Given the description of an element on the screen output the (x, y) to click on. 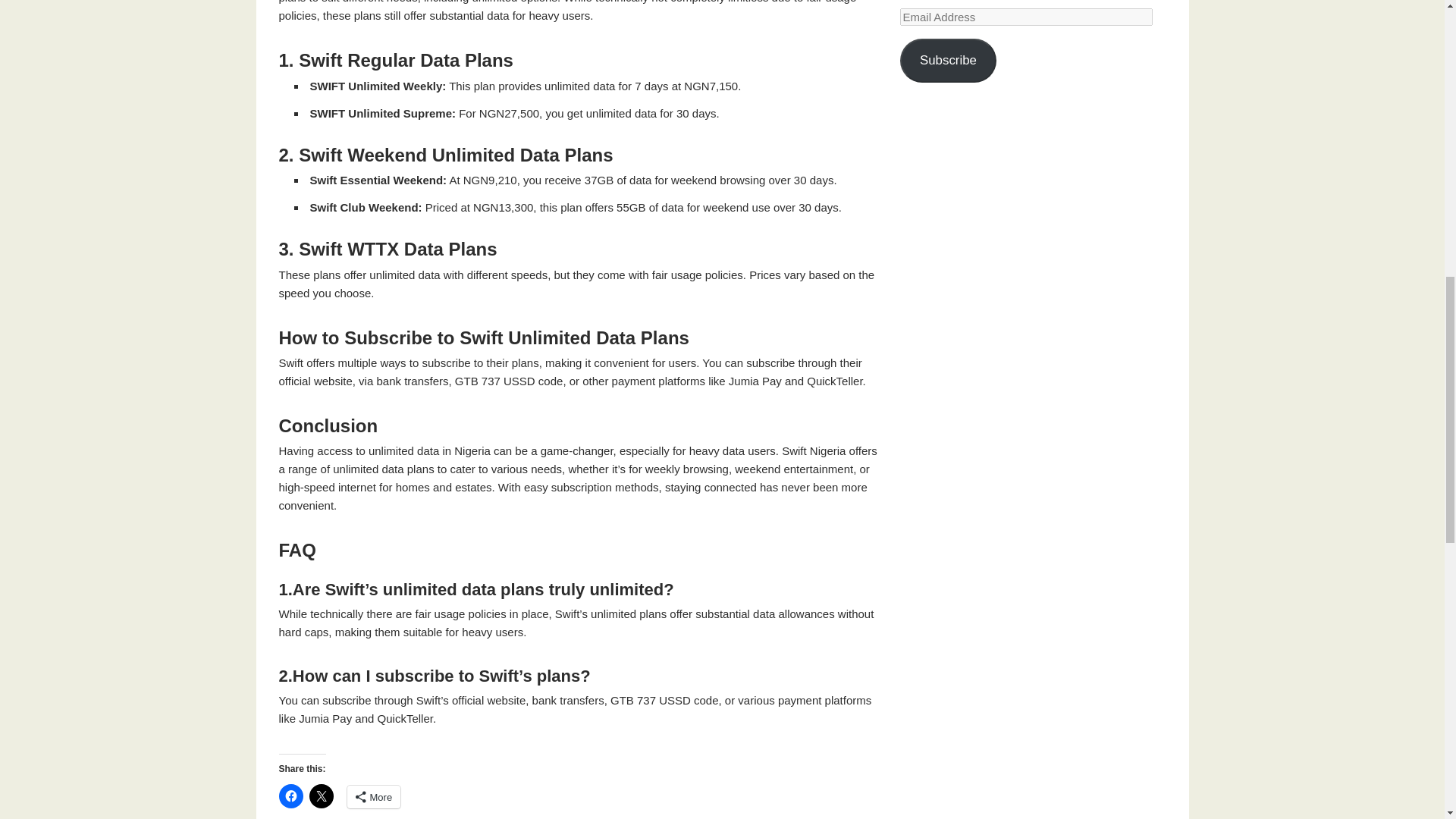
Click to share on X (320, 795)
More (374, 796)
Click to share on Facebook (290, 795)
